Given the description of an element on the screen output the (x, y) to click on. 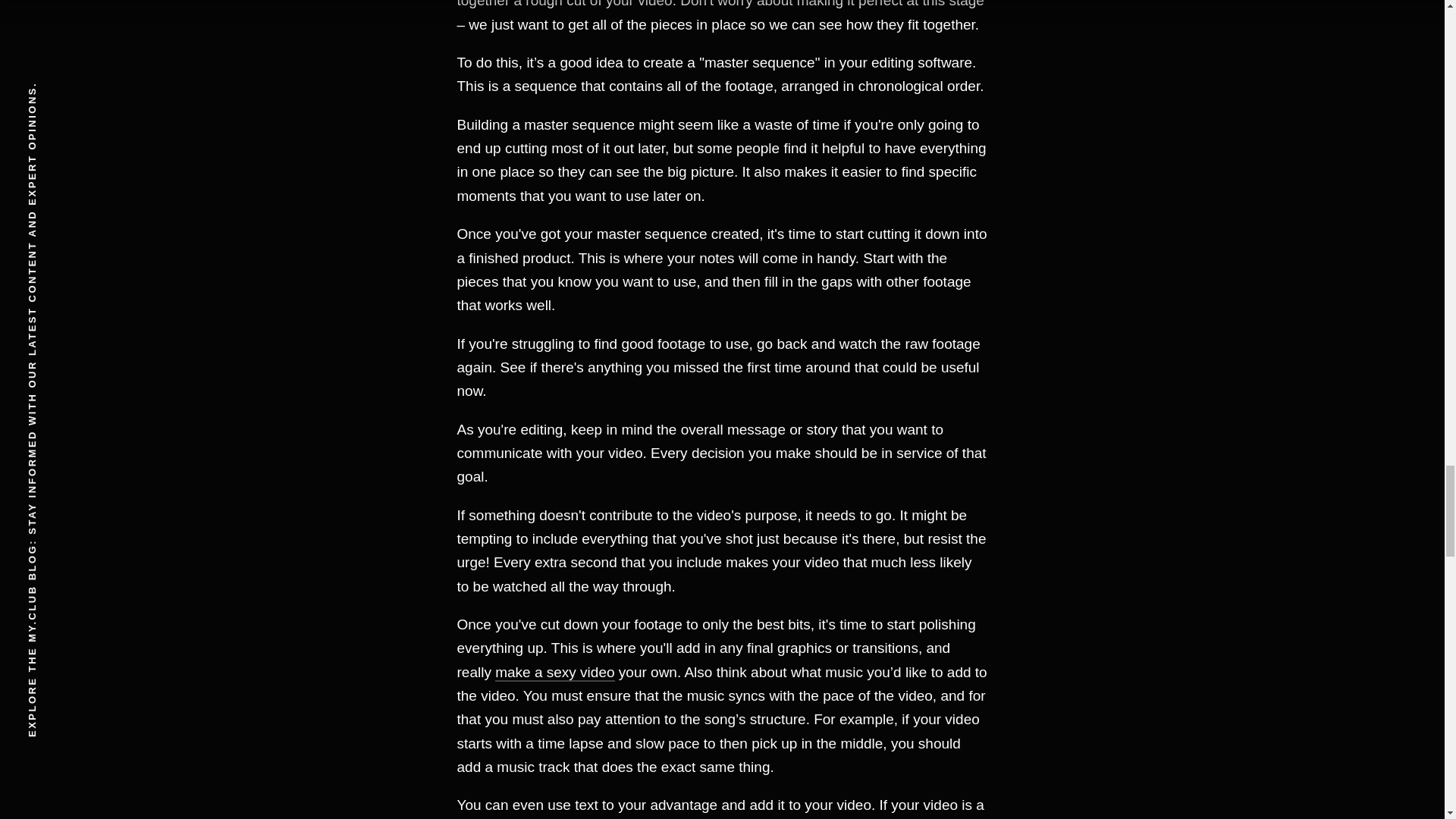
make a sexy video (554, 672)
